Given the description of an element on the screen output the (x, y) to click on. 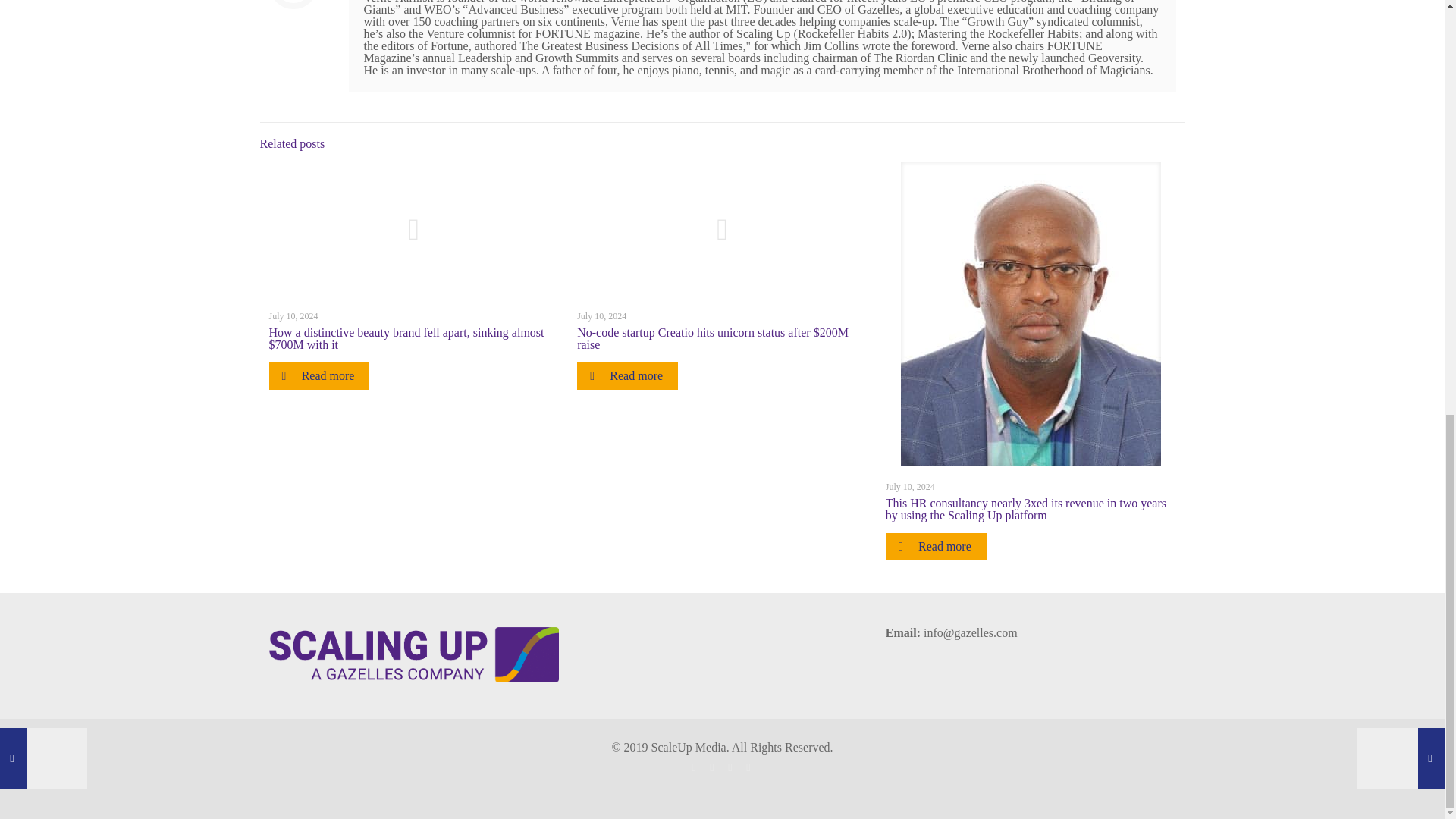
Read more (936, 546)
LinkedIn (749, 767)
YouTube (731, 767)
Read more (318, 375)
Twitter (713, 767)
Facebook (694, 767)
Read more (627, 375)
